Given the description of an element on the screen output the (x, y) to click on. 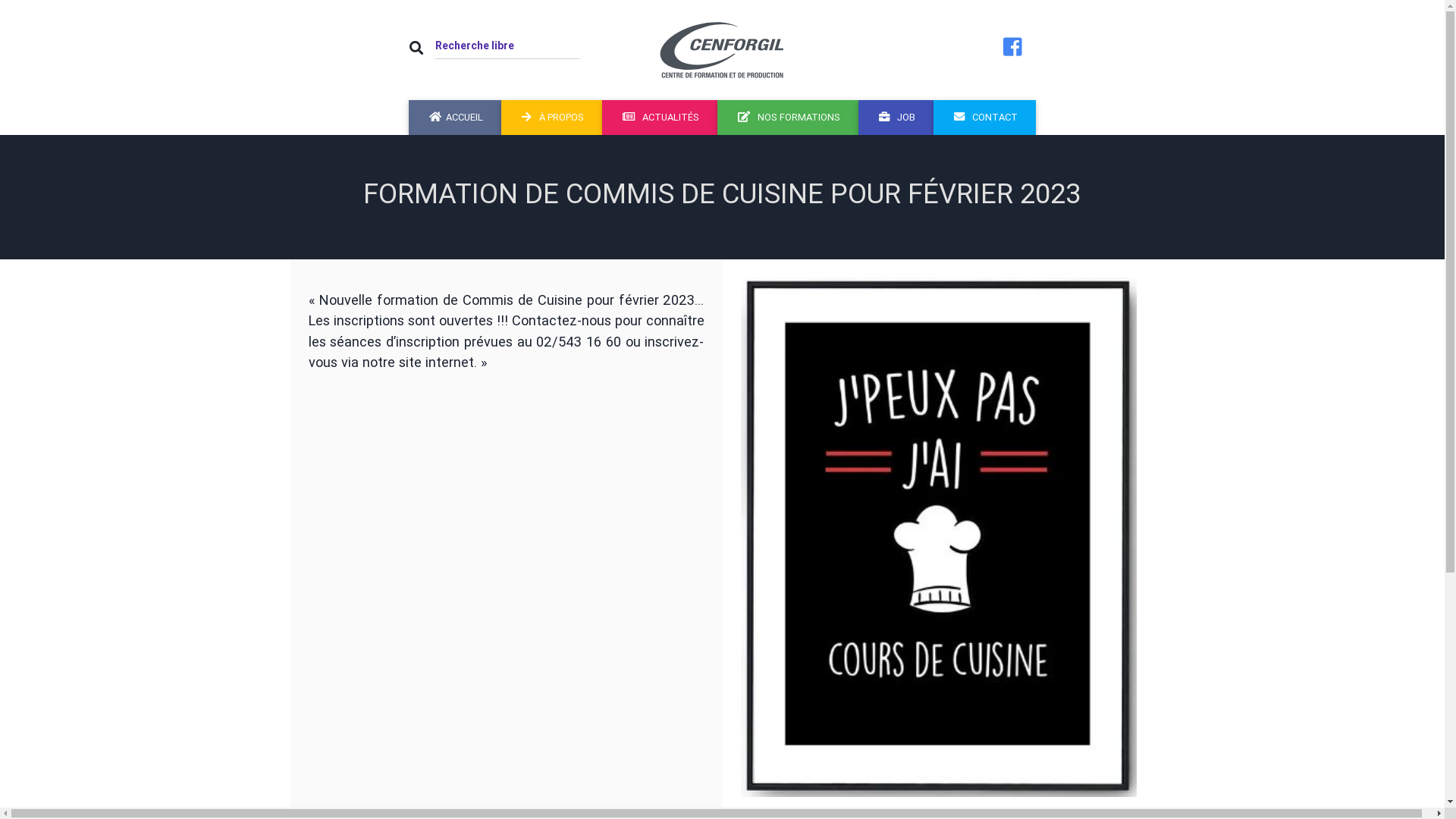
CONTACT Element type: text (984, 117)
ACCUEIL Element type: text (454, 117)
NOS FORMATIONS Element type: text (787, 117)
JOB Element type: text (895, 117)
